Given the description of an element on the screen output the (x, y) to click on. 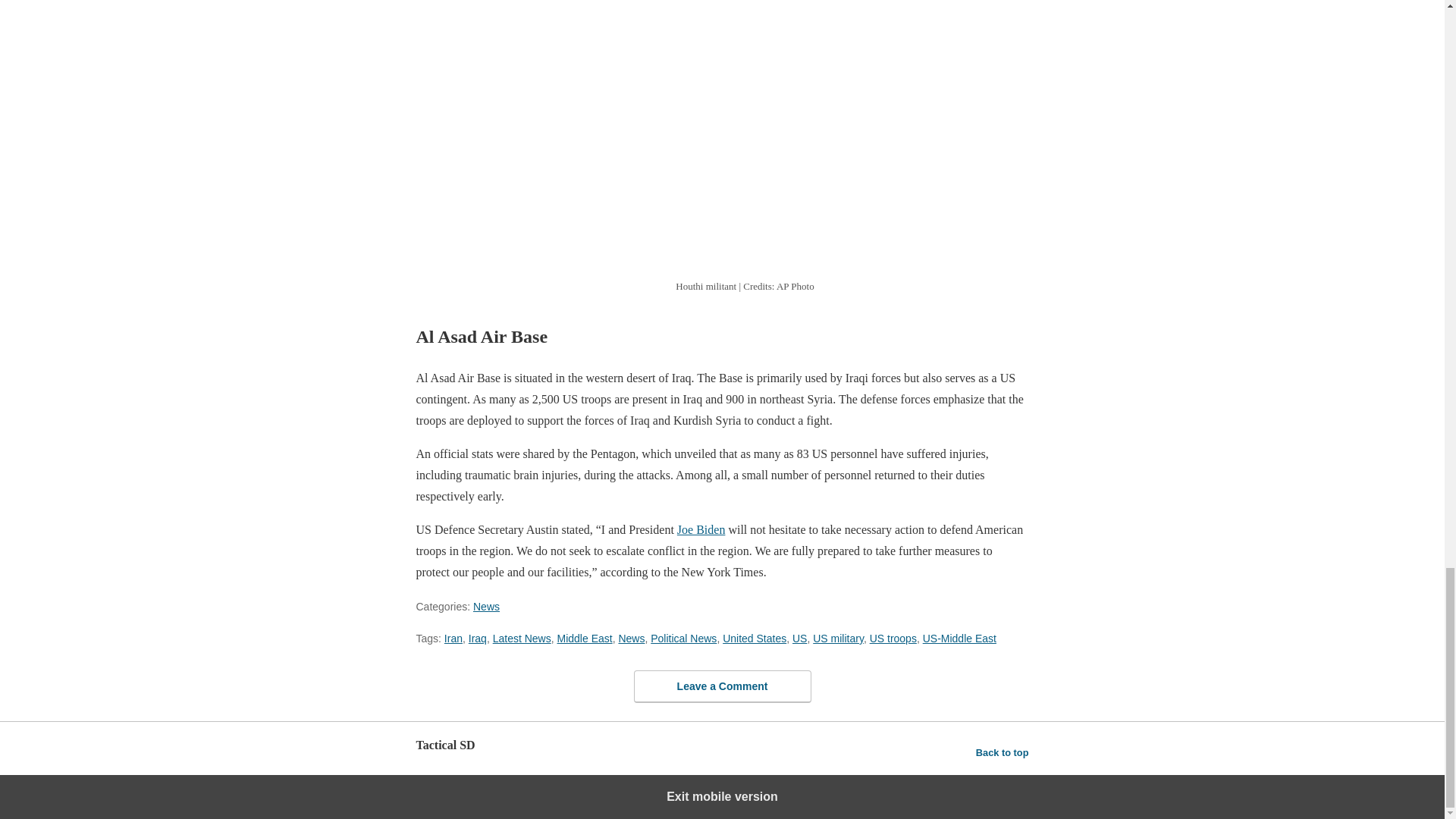
Latest News (522, 638)
Middle East (583, 638)
Iraq (477, 638)
United States (754, 638)
US-Middle East (959, 638)
News (631, 638)
US military (837, 638)
News (486, 606)
Iran (453, 638)
US troops (893, 638)
Political News (683, 638)
Leave a Comment (721, 686)
Back to top (1002, 752)
Joe Biden (701, 529)
US (799, 638)
